Given the description of an element on the screen output the (x, y) to click on. 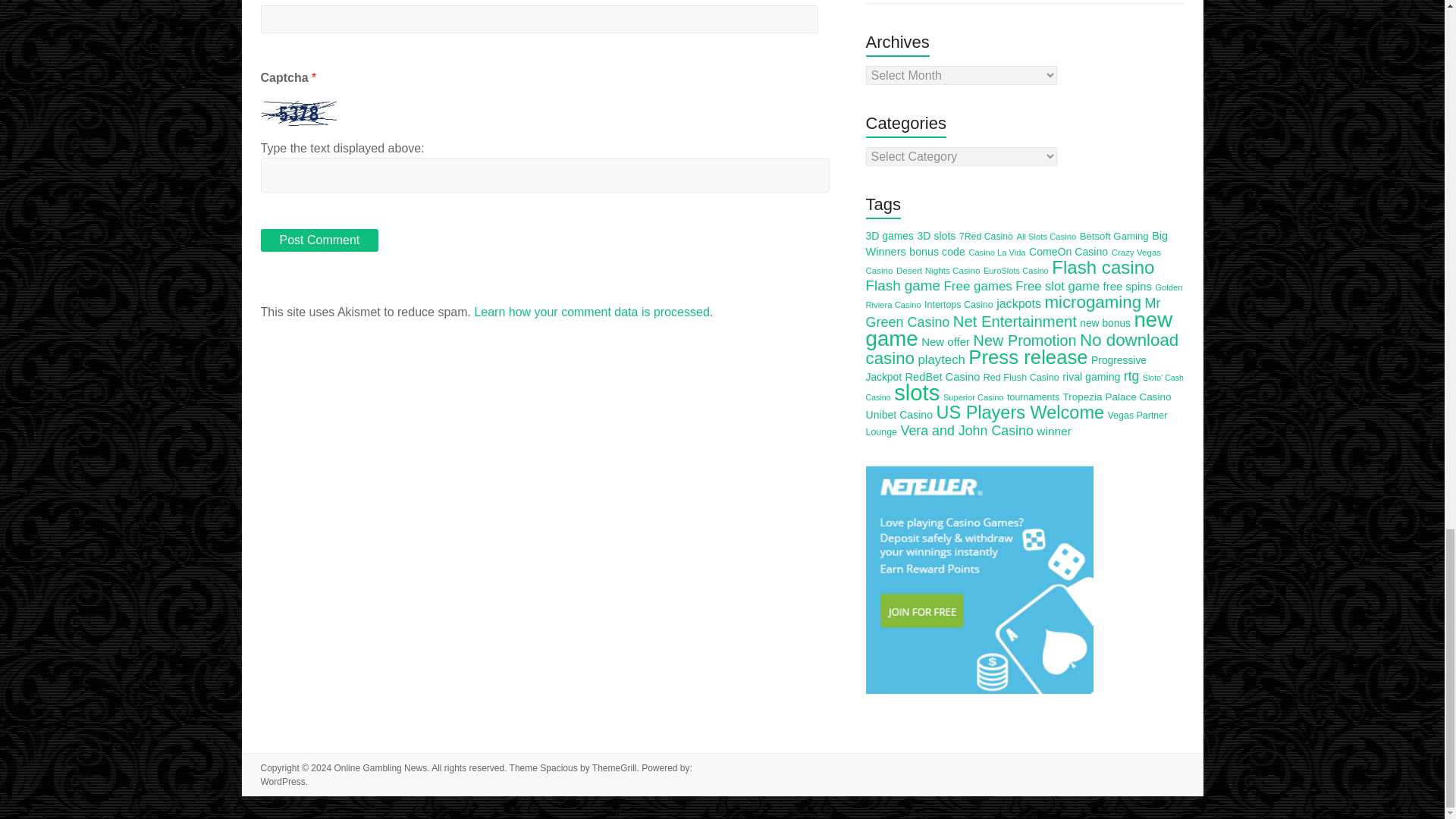
Post Comment (319, 240)
Learn how your comment data is processed (591, 311)
Post Comment (319, 240)
